Given the description of an element on the screen output the (x, y) to click on. 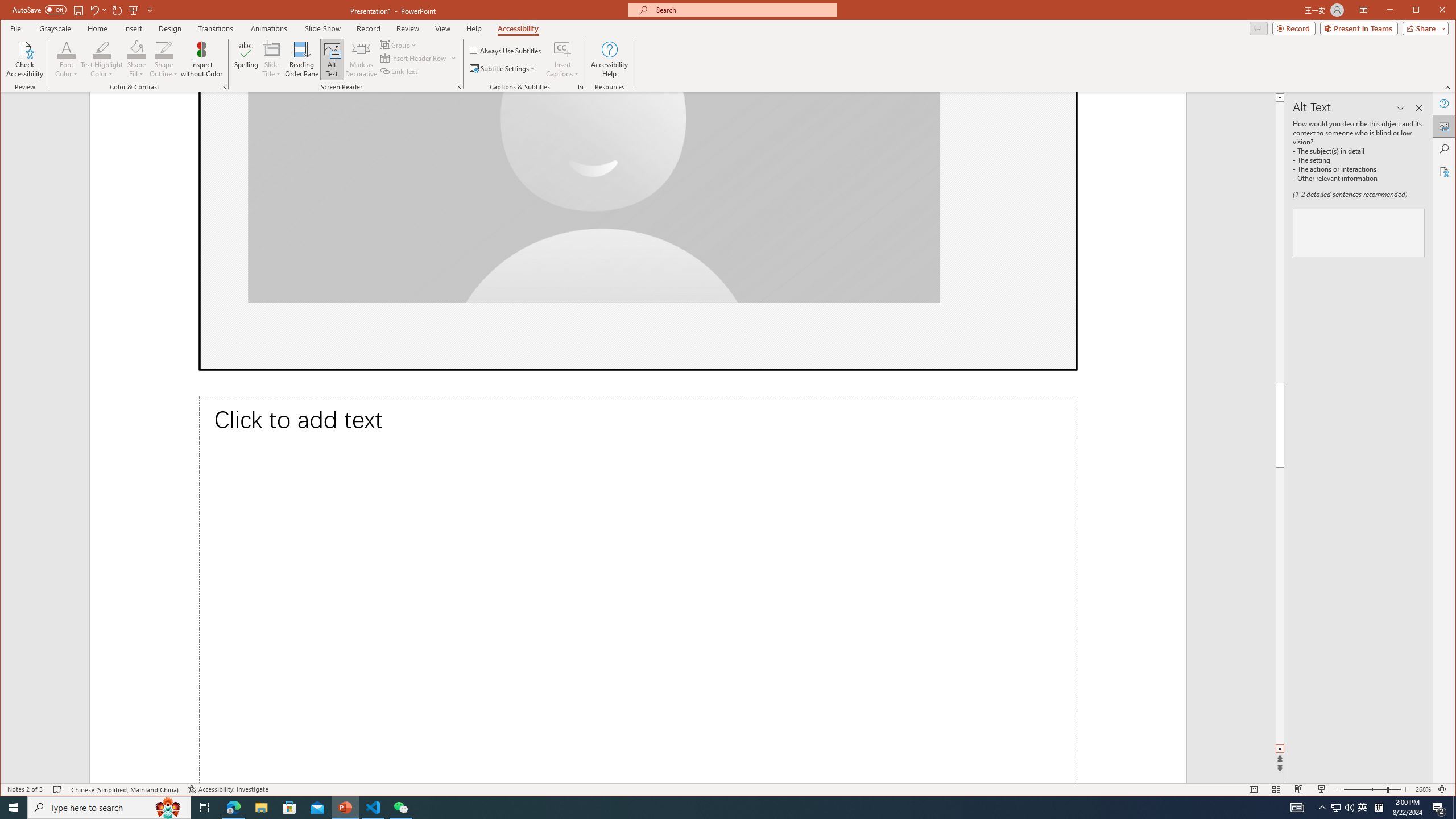
Inspect without Color (201, 59)
WeChat - 1 running window (400, 807)
